Given the description of an element on the screen output the (x, y) to click on. 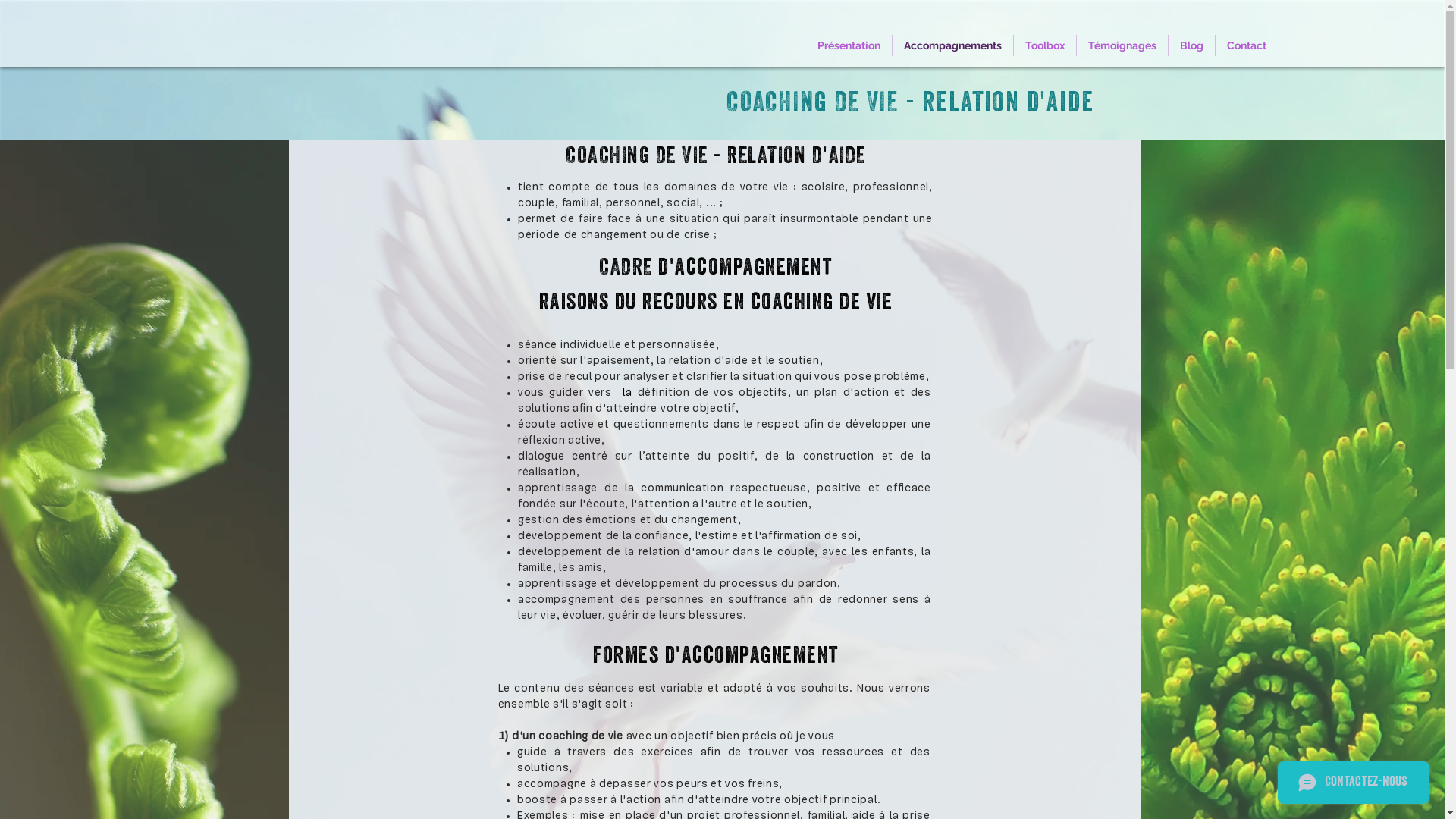
Blog Element type: text (1191, 45)
Toolbox Element type: text (1044, 45)
Accompagnements Element type: text (952, 45)
Contact Element type: text (1246, 45)
